Given the description of an element on the screen output the (x, y) to click on. 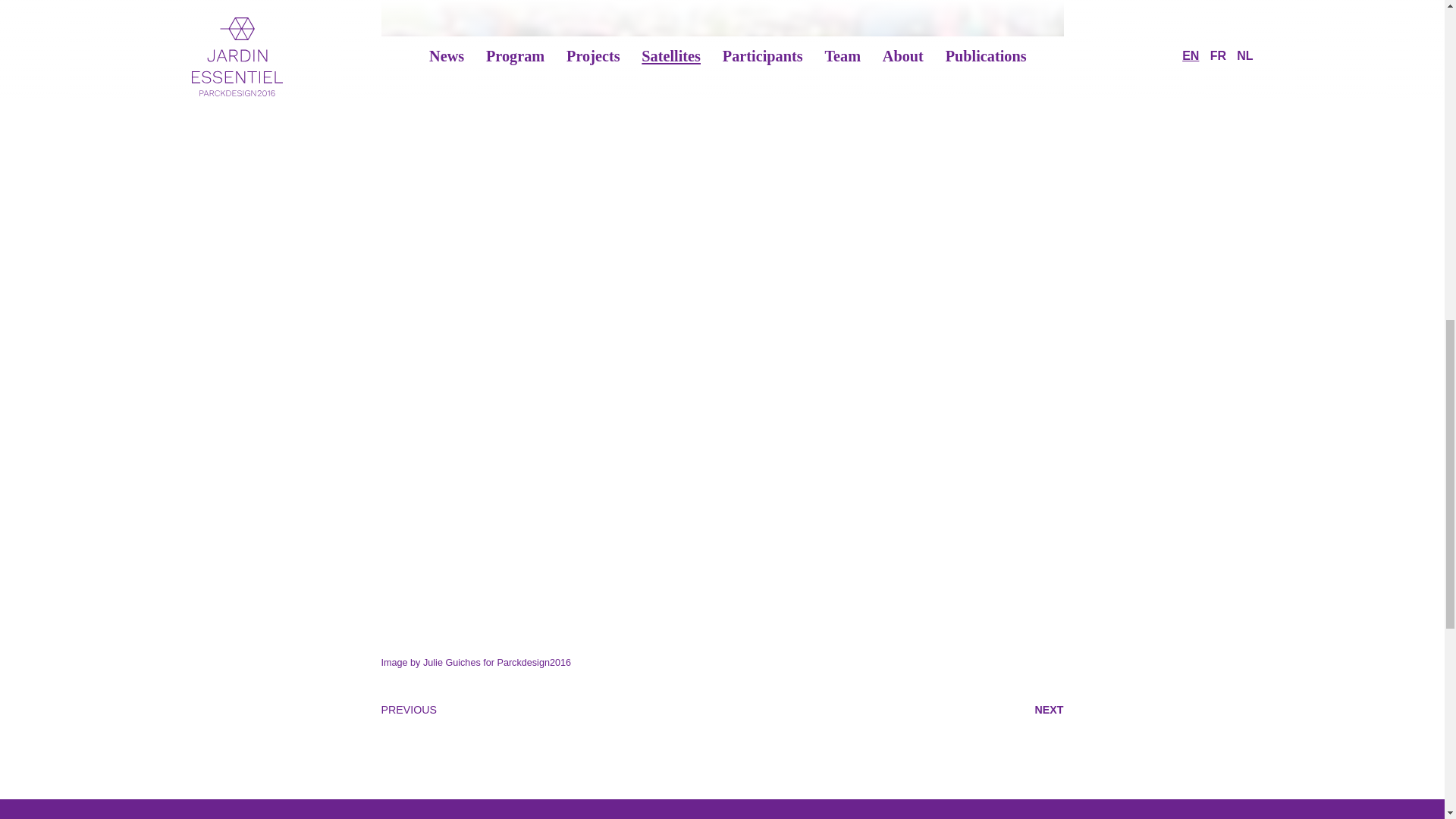
PREVIOUS (407, 709)
NEXT (1049, 709)
